Given the description of an element on the screen output the (x, y) to click on. 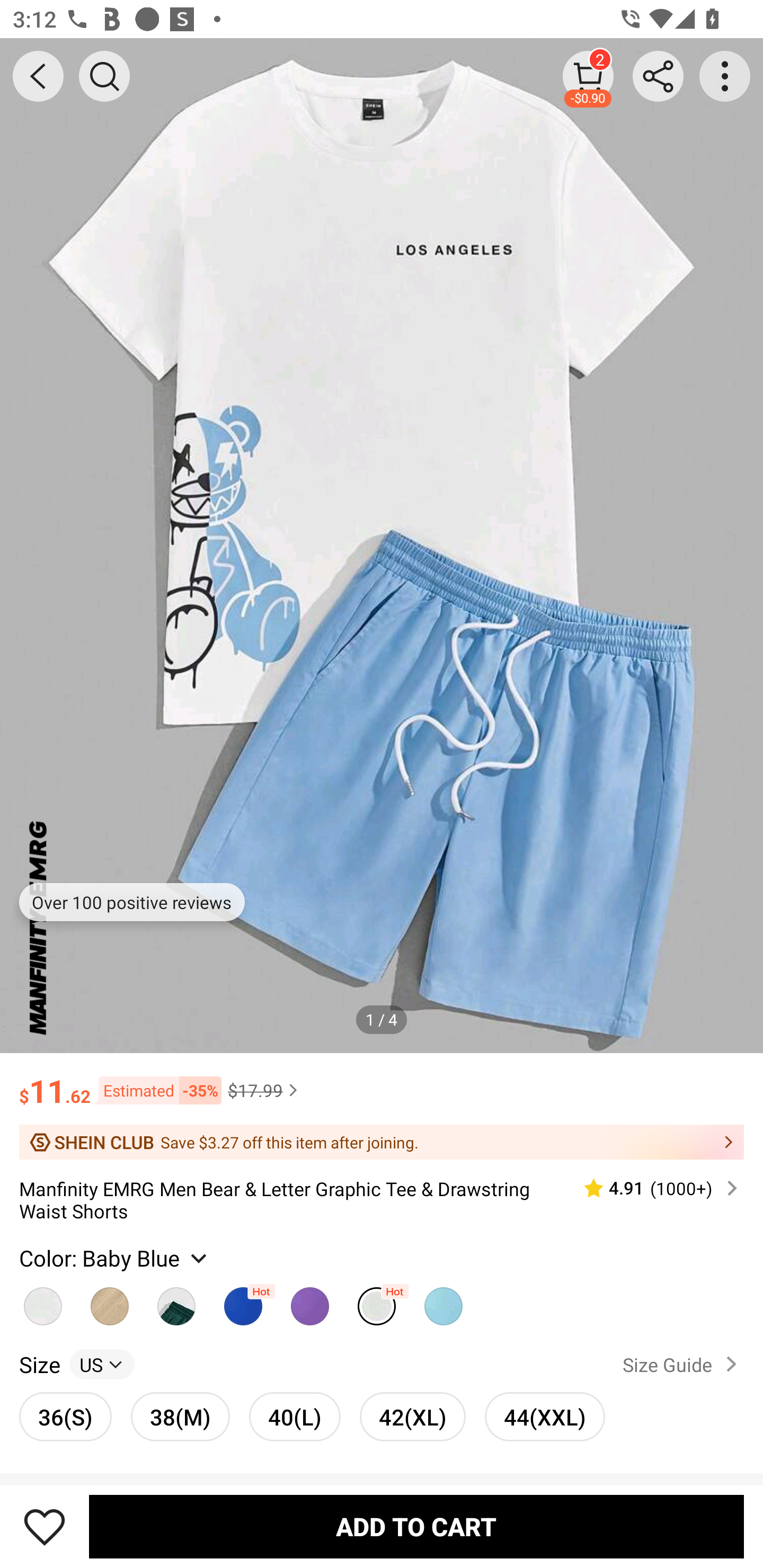
BACK (38, 75)
2 -$0.90 (588, 75)
1 / 4 (381, 1018)
Estimated -35% (155, 1089)
$17.99 (265, 1090)
Save $3.27 off this item after joining. (381, 1142)
4.91 (1000‎+) (653, 1188)
Color: Baby Blue (115, 1258)
Khaki (42, 1301)
Khaki (109, 1301)
Green (176, 1301)
Royal Blue (242, 1301)
Violet Purple (309, 1301)
Baby Blue (376, 1301)
Mint Blue (443, 1301)
Size (39, 1363)
US (102, 1363)
Size Guide (682, 1363)
36(S) 36(S)unselected option (65, 1416)
38(M) 38(M)unselected option (180, 1416)
40(L) 40(L)unselected option (294, 1416)
42(XL) 42(XL)unselected option (412, 1416)
44(XXL) 44(XXL)unselected option (544, 1416)
ADD TO CART (416, 1526)
Save (44, 1526)
